Given the description of an element on the screen output the (x, y) to click on. 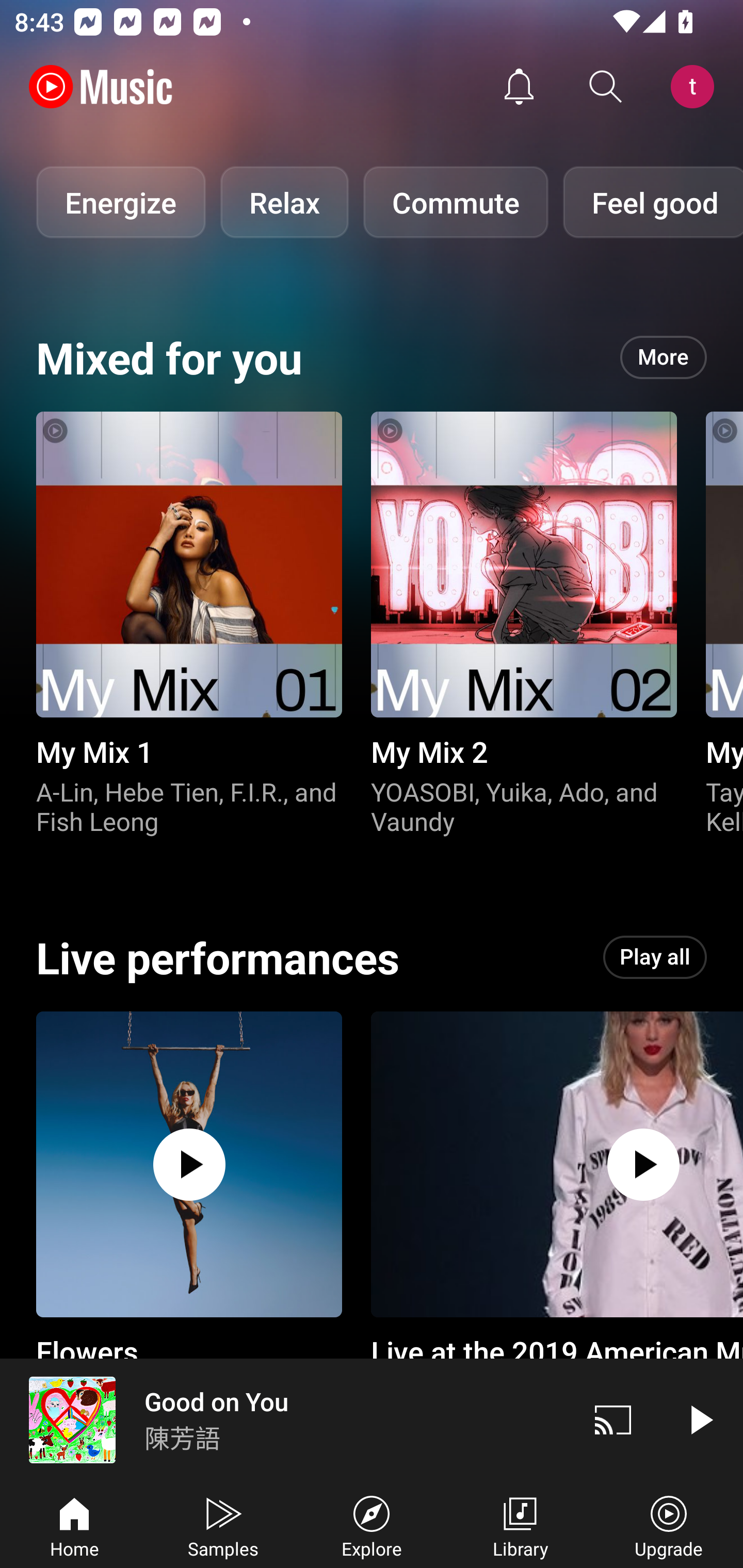
Activity feed (518, 86)
Search (605, 86)
Account (696, 86)
Good on You 陳芳語 (284, 1419)
Cast. Disconnected (612, 1419)
Play video (699, 1419)
Home (74, 1524)
Samples (222, 1524)
Explore (371, 1524)
Library (519, 1524)
Upgrade (668, 1524)
